Given the description of an element on the screen output the (x, y) to click on. 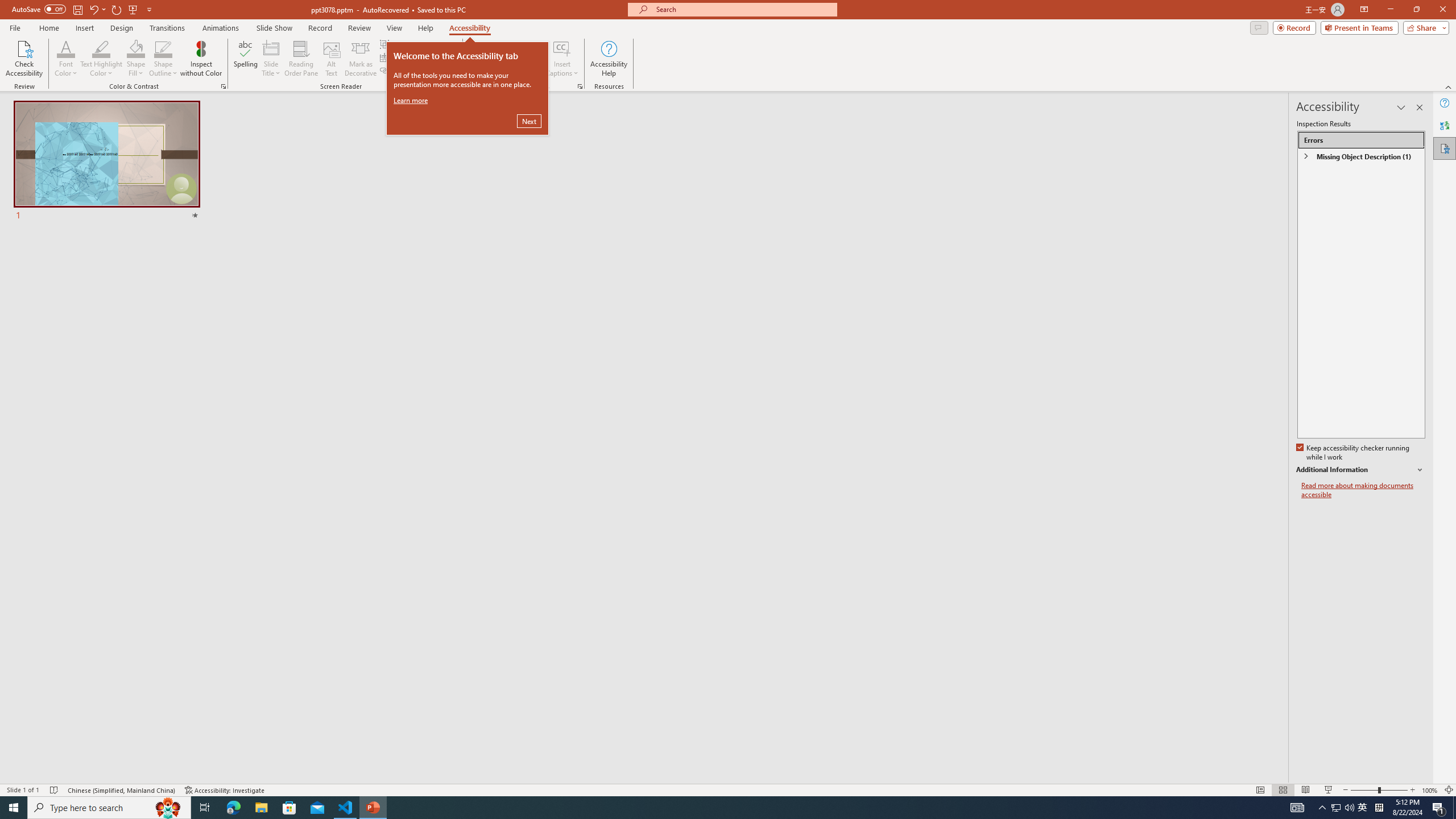
Shape Outline (163, 58)
Slide Title (271, 48)
Color & Contrast (223, 85)
Insert Header Row (413, 56)
Screen Reader (458, 85)
Insert Captions (561, 58)
